Given the description of an element on the screen output the (x, y) to click on. 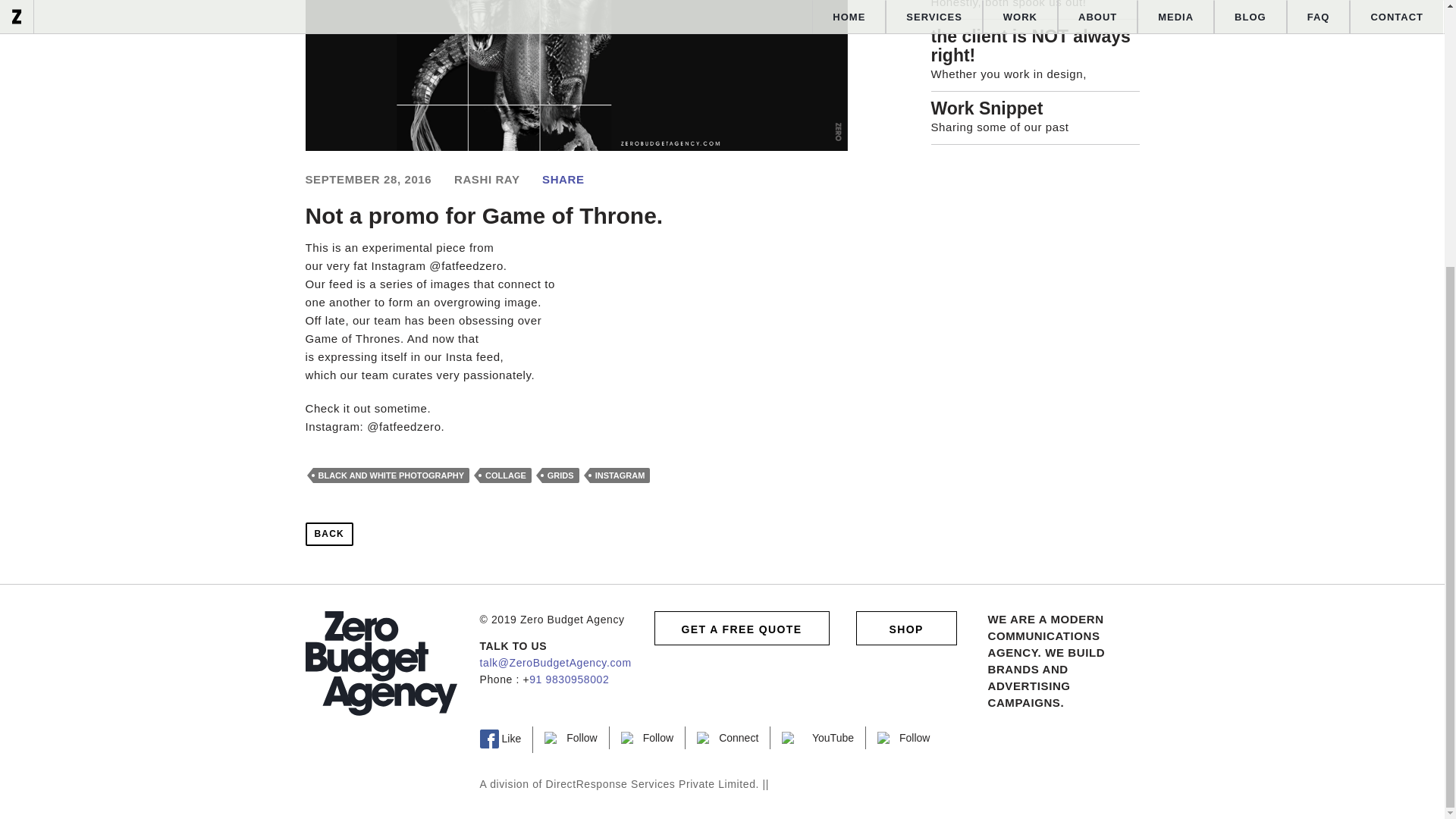
Permanent link to Work Snippet (1035, 108)
ZBA homepage (380, 662)
Permanent link to the client is NOT always right! (1035, 46)
